Given the description of an element on the screen output the (x, y) to click on. 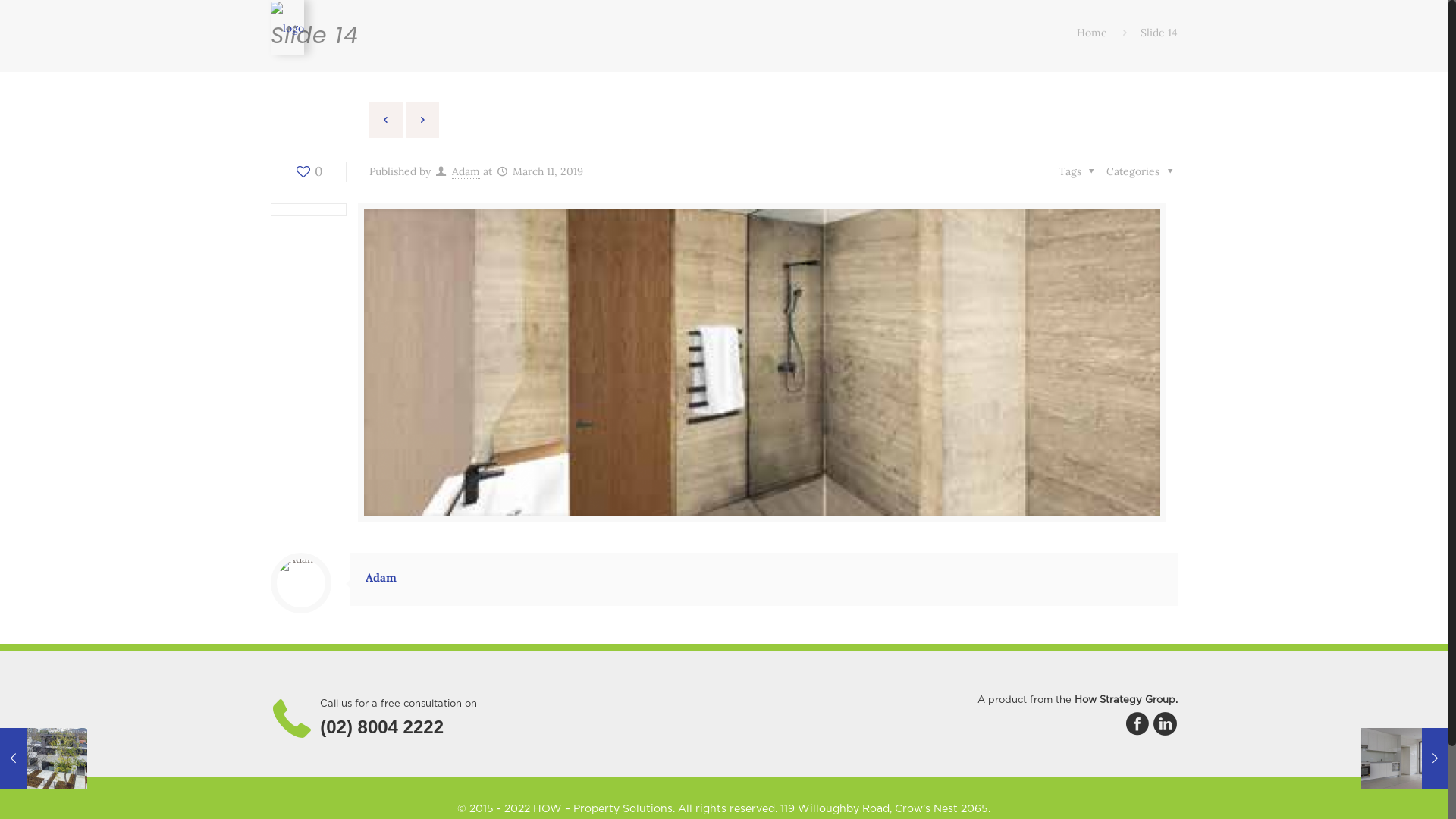
(02) 8004 2222 Element type: text (381, 726)
Home Element type: text (1091, 32)
0 Element type: text (308, 171)
How Property Solutions Element type: hover (287, 27)
Adam Element type: text (380, 577)
Adam Element type: text (465, 171)
